Given the description of an element on the screen output the (x, y) to click on. 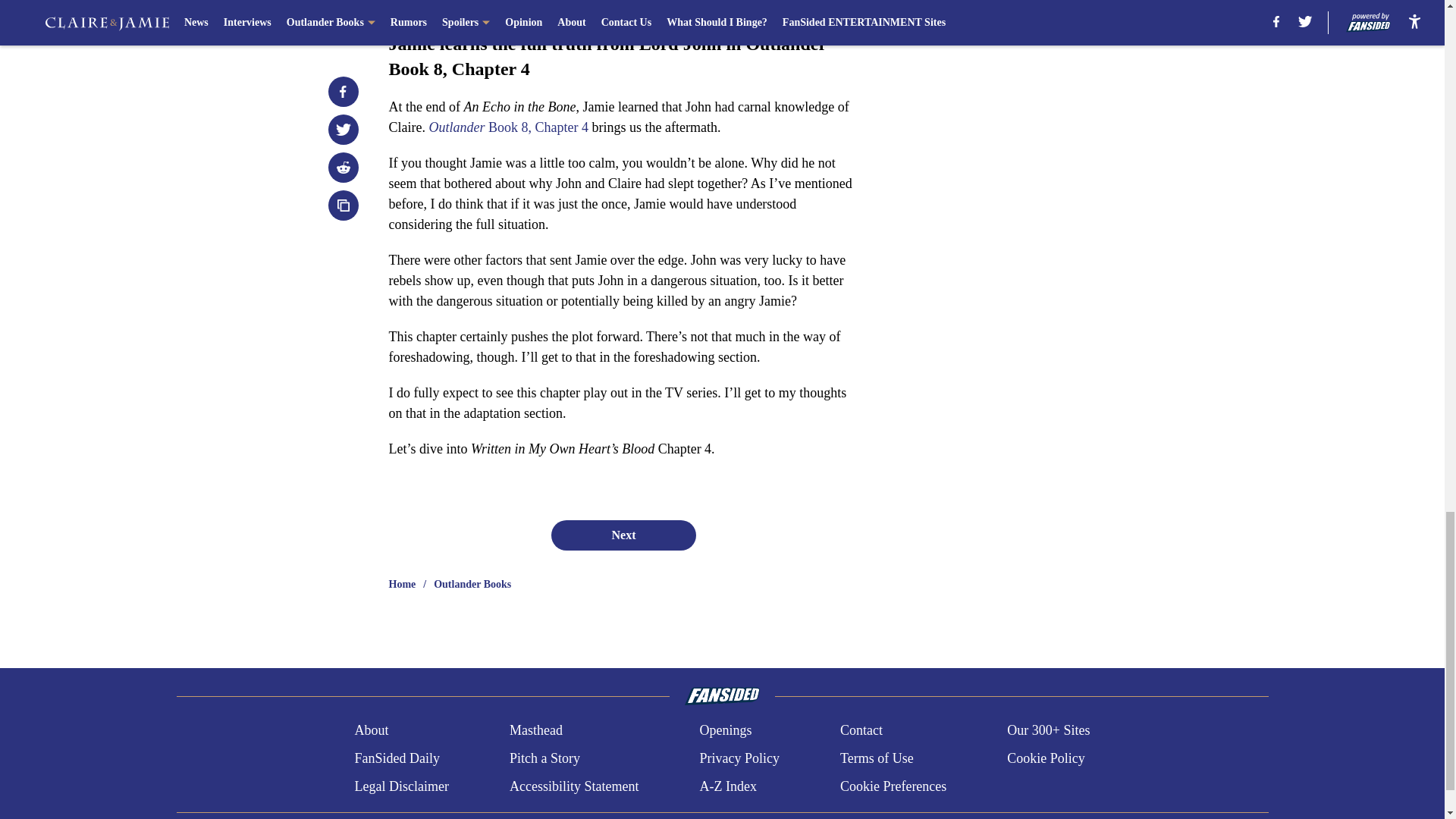
Pitch a Story (544, 758)
FanSided Daily (396, 758)
Home (401, 584)
Masthead (535, 730)
About (370, 730)
Privacy Policy (738, 758)
Contact (861, 730)
Next (622, 535)
Outlander Books (472, 584)
Openings (724, 730)
Outlander Book 8, Chapter 4 (508, 127)
